Given the description of an element on the screen output the (x, y) to click on. 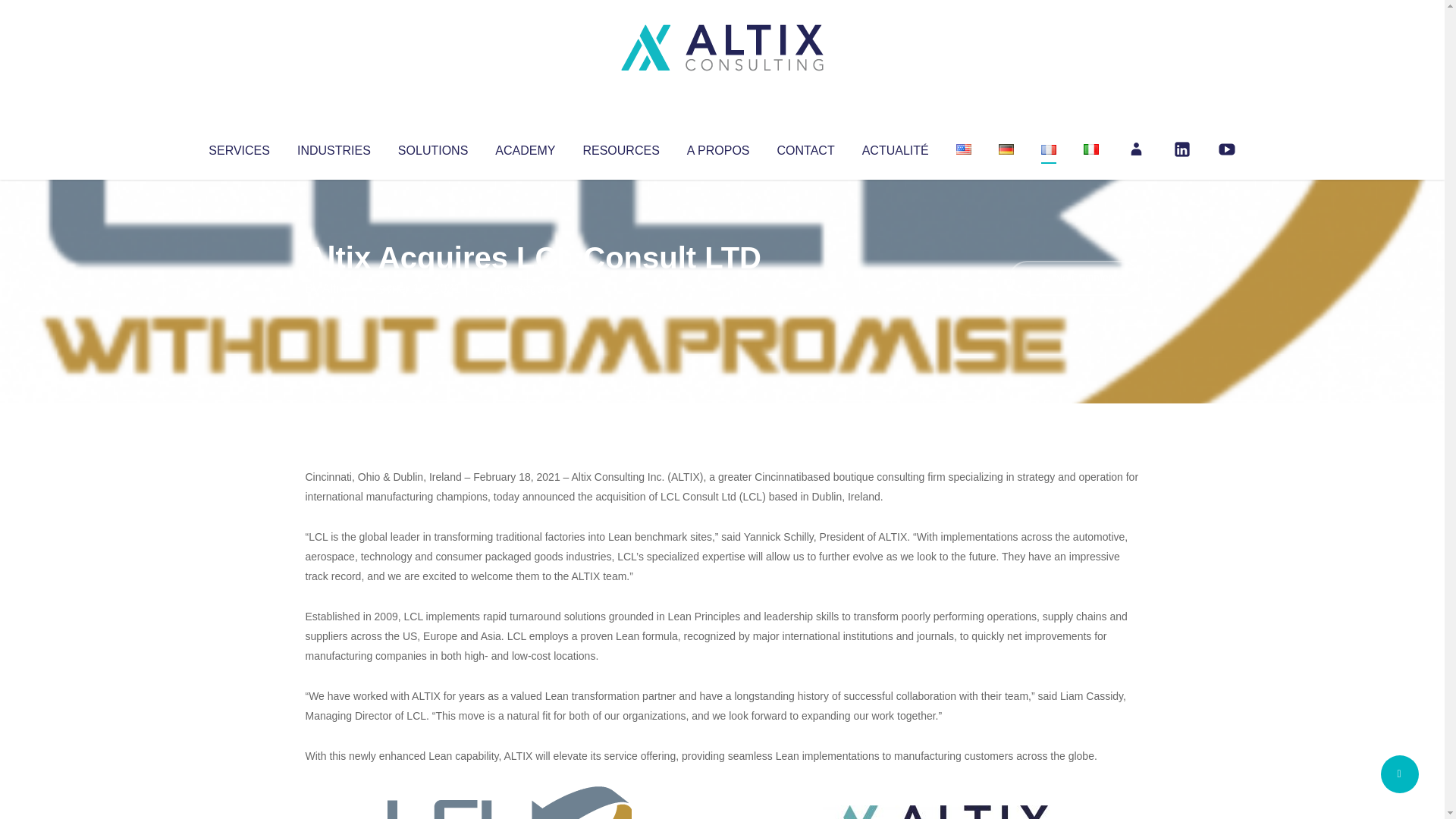
RESOURCES (620, 146)
SERVICES (238, 146)
Altix (333, 287)
Articles par Altix (333, 287)
ACADEMY (524, 146)
A PROPOS (718, 146)
Uncategorized (530, 287)
INDUSTRIES (334, 146)
SOLUTIONS (432, 146)
No Comments (1073, 278)
